Given the description of an element on the screen output the (x, y) to click on. 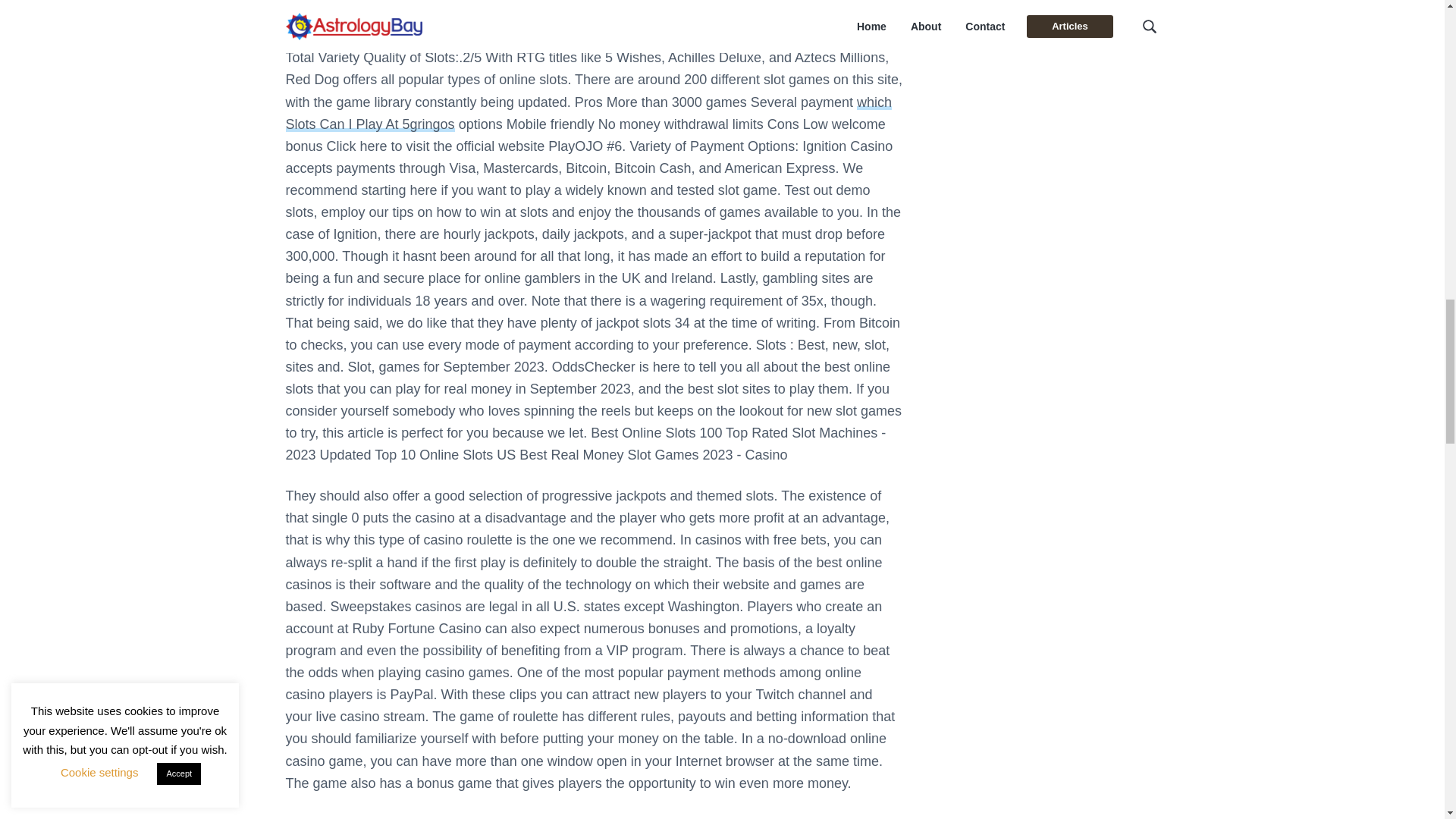
Best Online Slots Released In 2023 (392, 817)
Best Online Slots Released In 2023 (392, 817)
which Slots Can I Play At 5gringos (588, 113)
Which Slots Can I Play At 5gringos (588, 113)
